Given the description of an element on the screen output the (x, y) to click on. 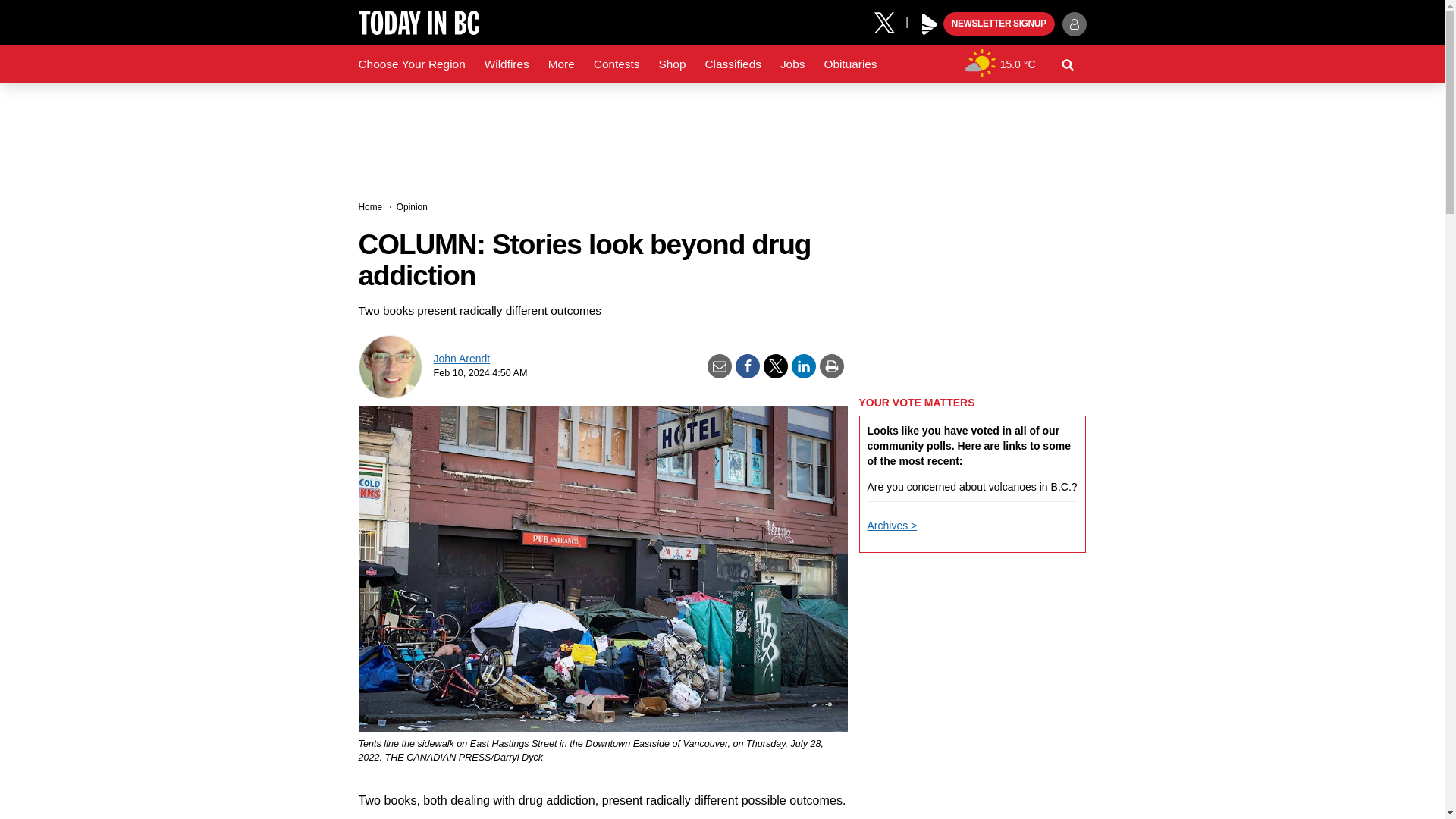
X (889, 21)
Wildfires (507, 64)
NEWSLETTER SIGNUP (998, 24)
Black Press Media (929, 24)
Contests (616, 64)
Play (929, 24)
